Given the description of an element on the screen output the (x, y) to click on. 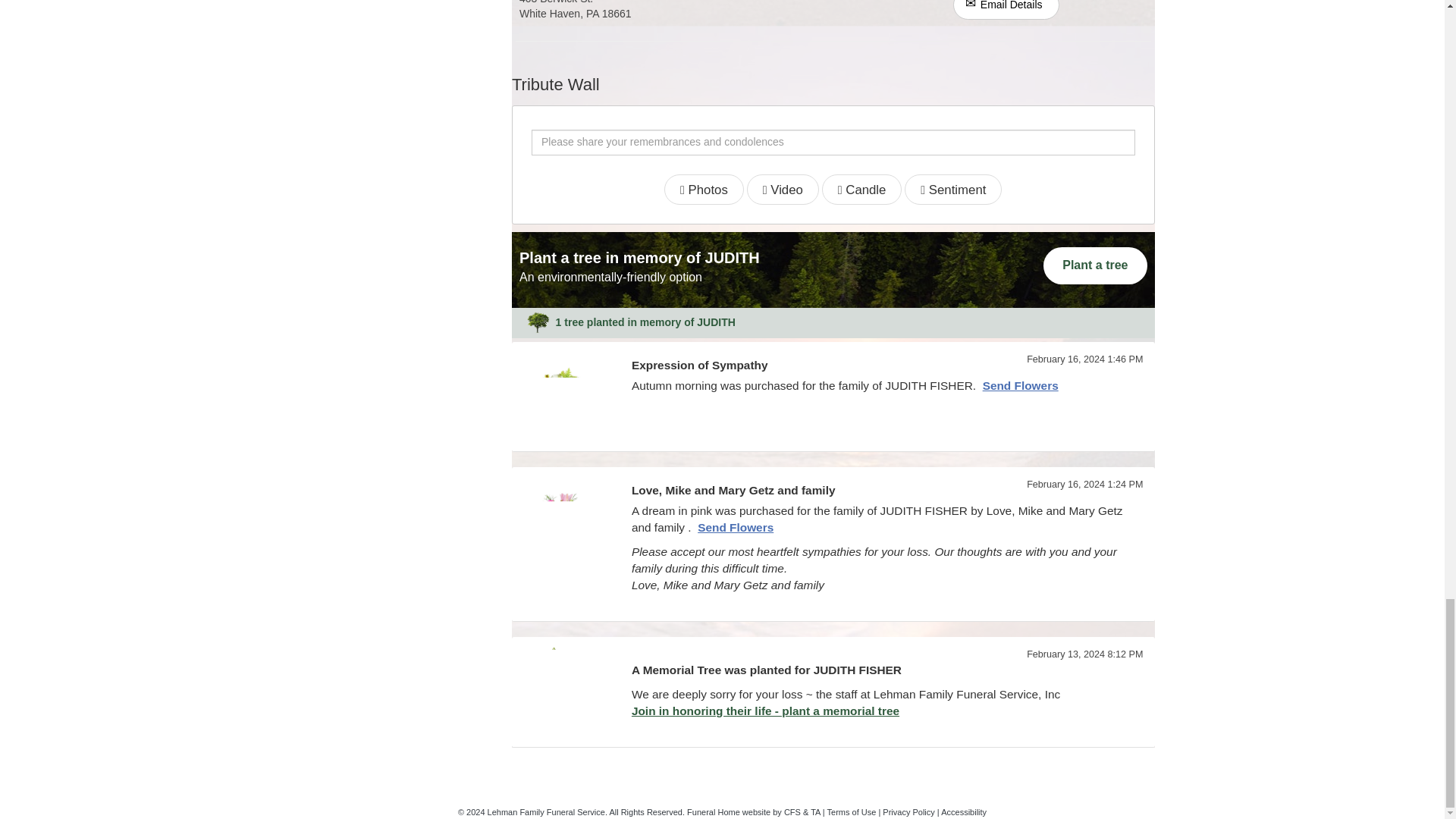
Plant a tree (1095, 265)
Plant a tree (1095, 265)
Email Details (1006, 9)
